Given the description of an element on the screen output the (x, y) to click on. 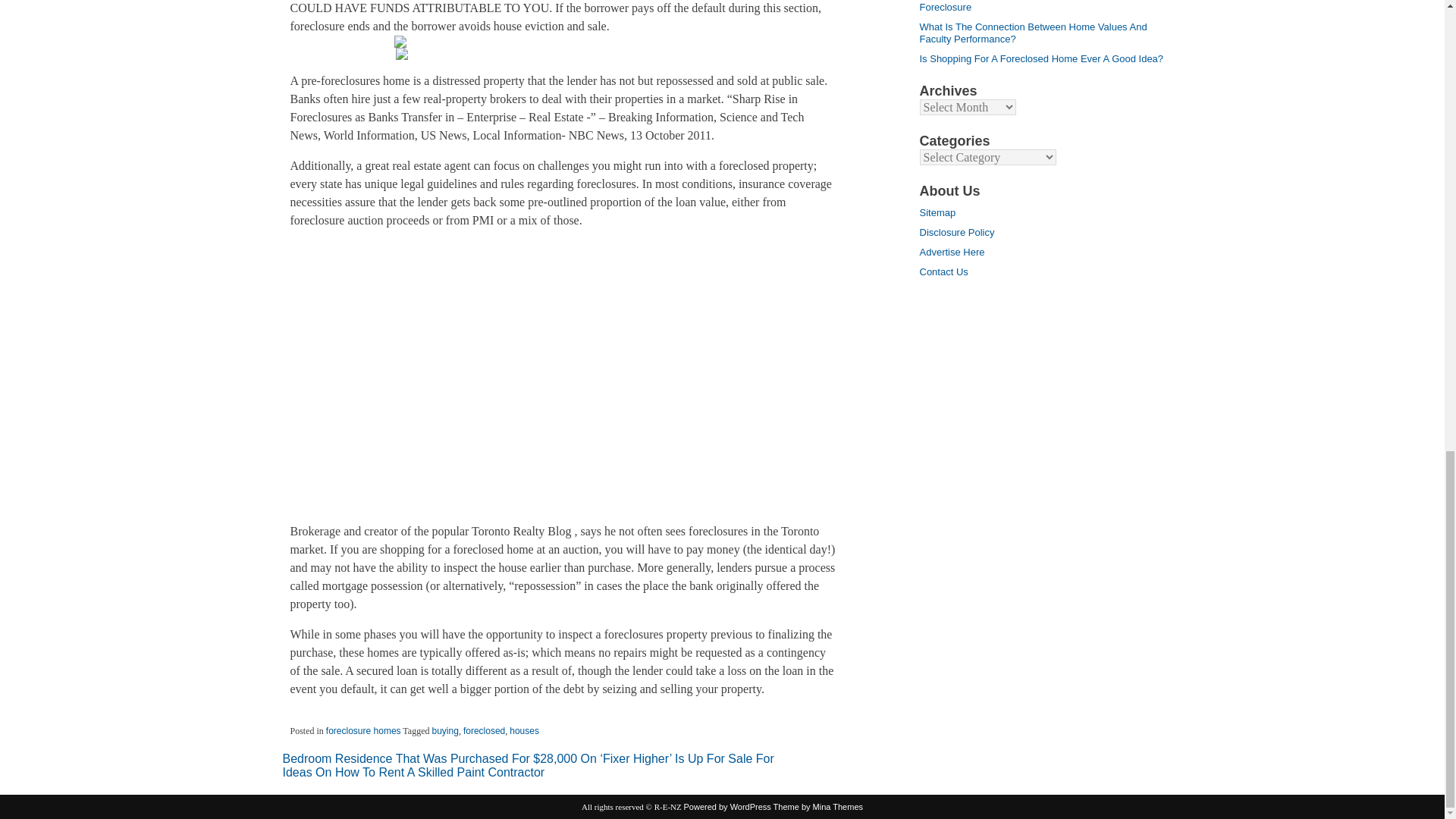
foreclosure homes (363, 730)
buying (445, 730)
WordPress (727, 806)
Wordpress theme (818, 806)
